Given the description of an element on the screen output the (x, y) to click on. 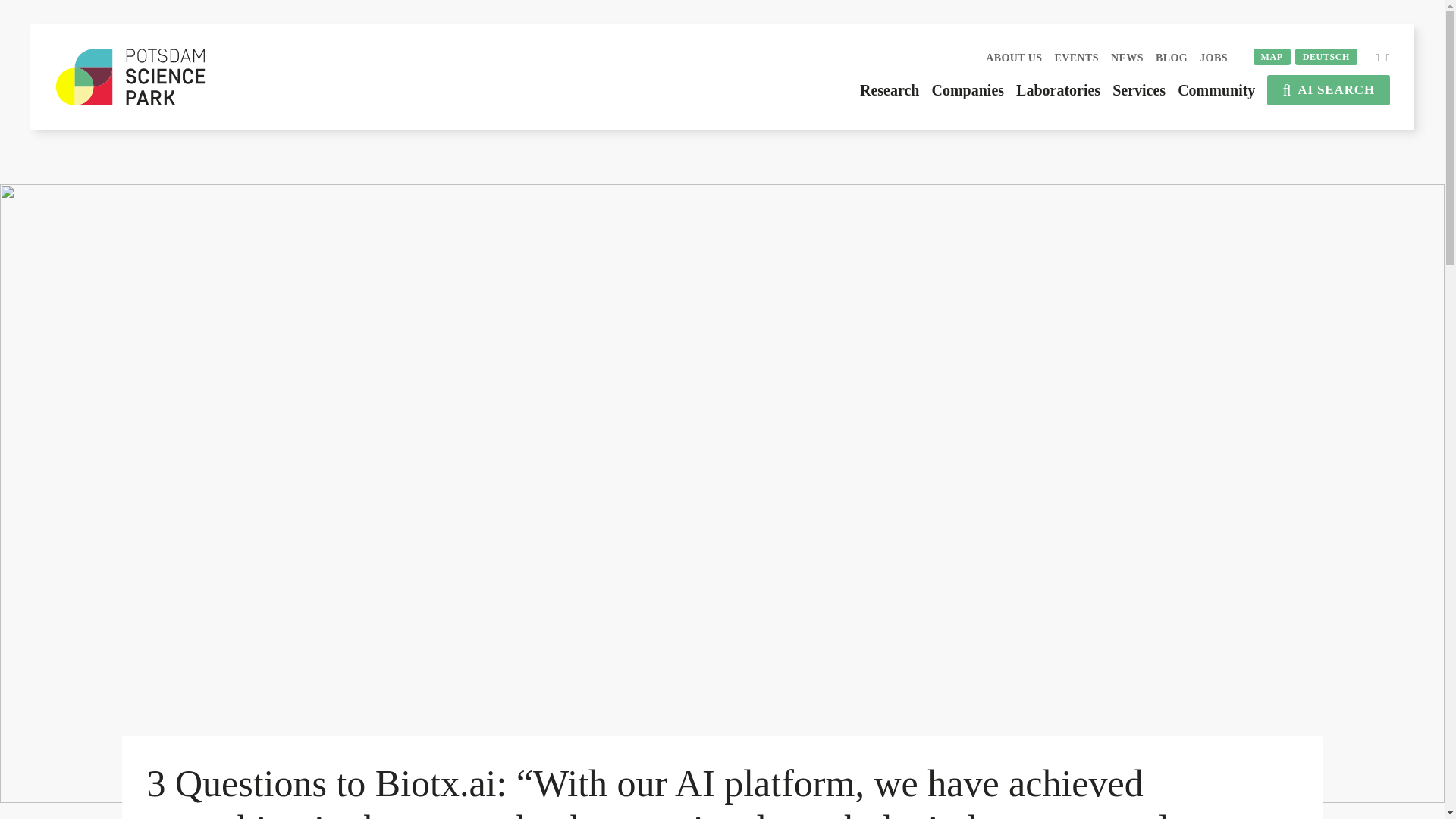
Services (1139, 89)
Companies (967, 89)
AI SEARCH (1328, 90)
JOBS (1213, 57)
Laboratories (1058, 89)
BLOG (1172, 57)
Community (1216, 89)
NEWS (1126, 57)
DEUTSCH (1325, 56)
EVENTS (1076, 57)
Research (890, 89)
ABOUT US (1013, 57)
MAP (1271, 56)
